Given the description of an element on the screen output the (x, y) to click on. 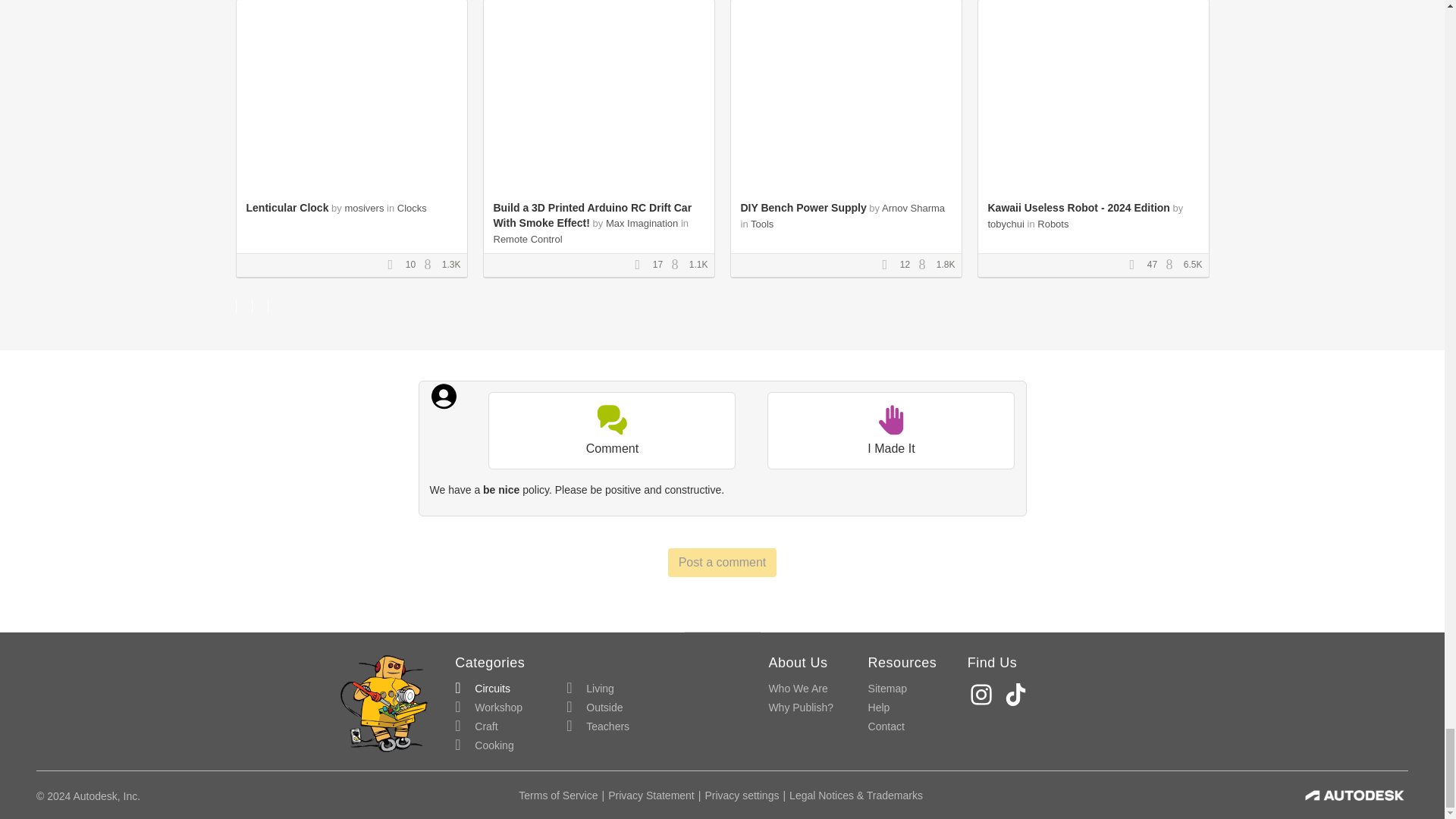
Views Count (1173, 265)
DIY Bench Power Supply (802, 207)
Favorites Count (889, 265)
Post a comment (722, 562)
Clocks (411, 207)
Views Count (678, 265)
Favorites Count (395, 265)
Robots (1052, 224)
mosivers (363, 207)
Lenticular Clock (287, 207)
Favorites Count (641, 265)
TikTok (1018, 694)
Circuits (482, 688)
Kawaii Useless Robot - 2024 Edition (1078, 207)
Build a 3D Printed Arduino RC Drift Car With Smoke Effect! (592, 215)
